Given the description of an element on the screen output the (x, y) to click on. 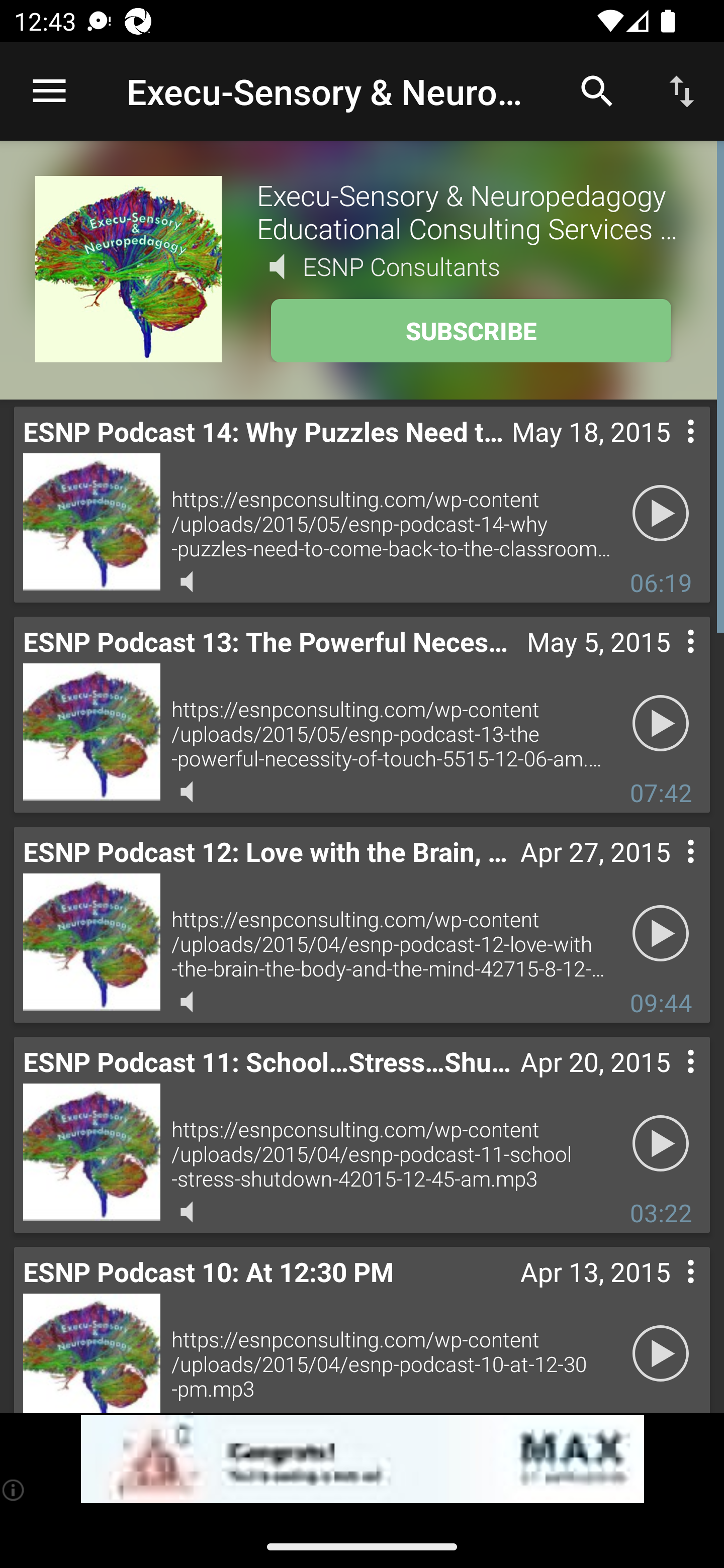
Open navigation sidebar (49, 91)
Search (597, 90)
Sort (681, 90)
SUBSCRIBE (470, 330)
Contextual menu (668, 451)
Play (660, 513)
Contextual menu (668, 661)
Play (660, 723)
Contextual menu (668, 870)
Play (660, 933)
Contextual menu (668, 1080)
Play (660, 1143)
Contextual menu (668, 1290)
Play (660, 1353)
app-monetization (362, 1459)
(i) (14, 1489)
